Given the description of an element on the screen output the (x, y) to click on. 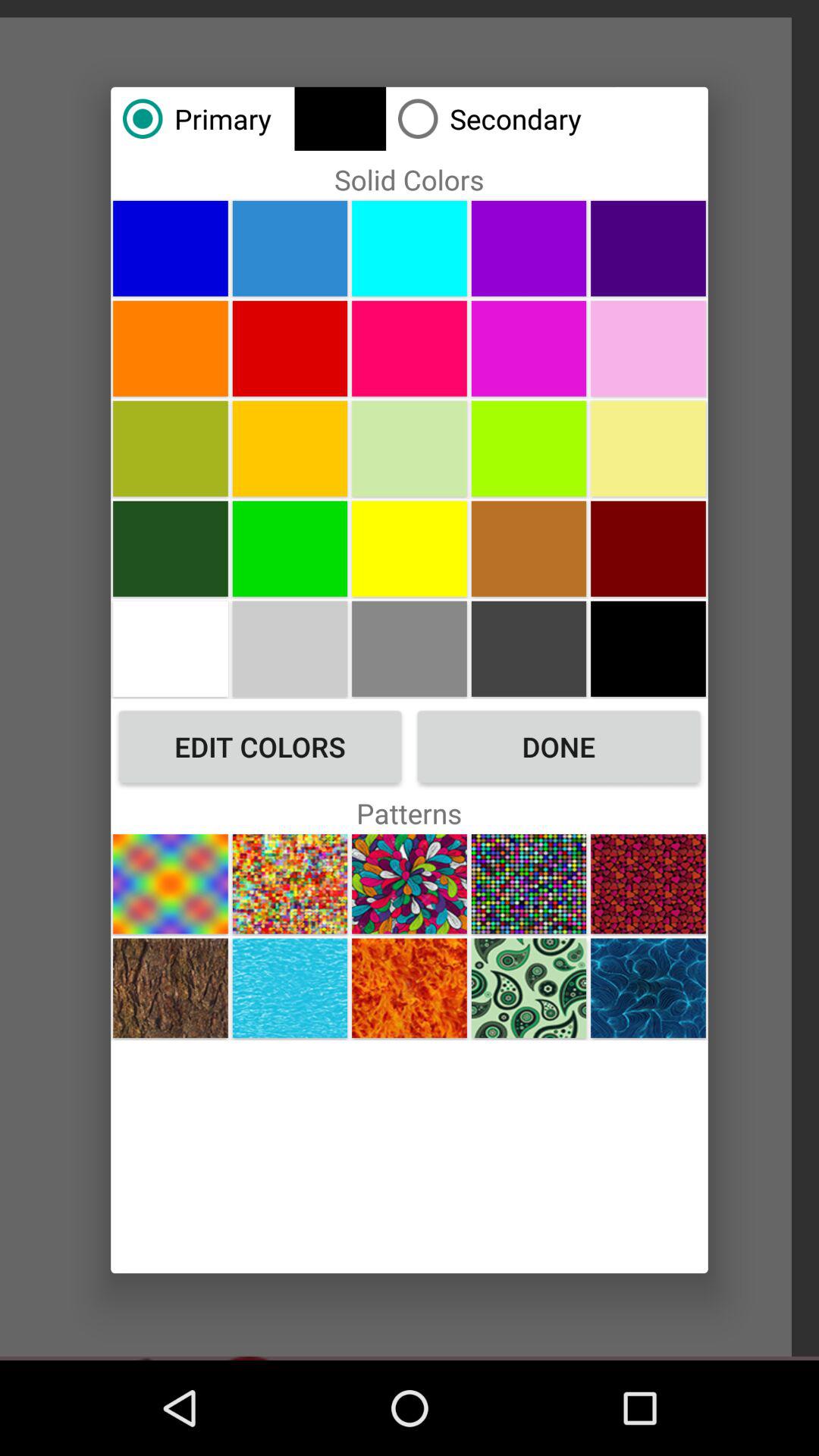
expand on the pattern selected (409, 883)
